Given the description of an element on the screen output the (x, y) to click on. 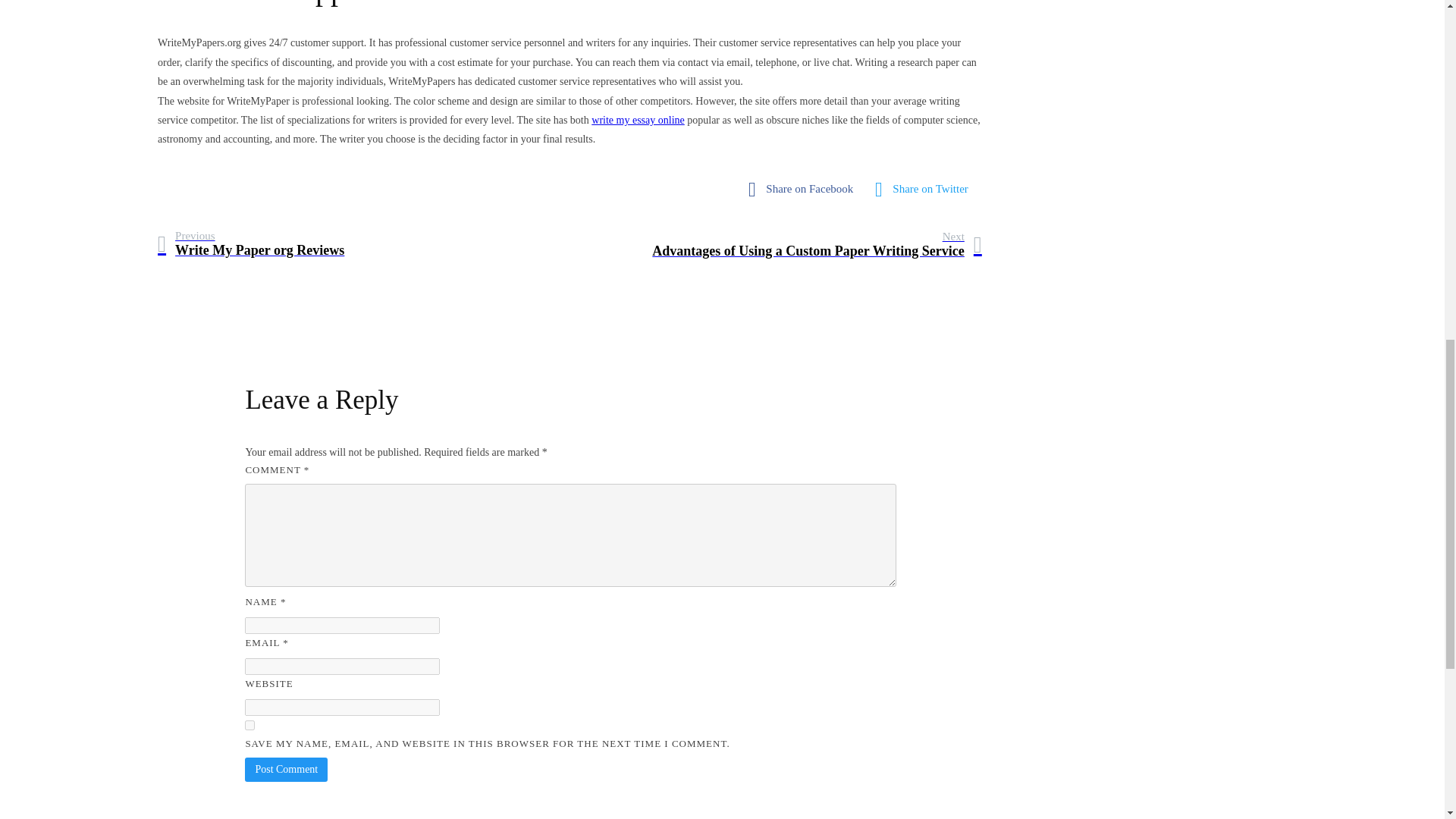
write my essay online (637, 120)
fab fa-facebook-square (804, 189)
Post Comment (285, 769)
fab fa-twitter-square (816, 244)
yes (925, 189)
Post Comment (249, 725)
Share on Twitter (285, 769)
Share on Facebook (925, 189)
